Given the description of an element on the screen output the (x, y) to click on. 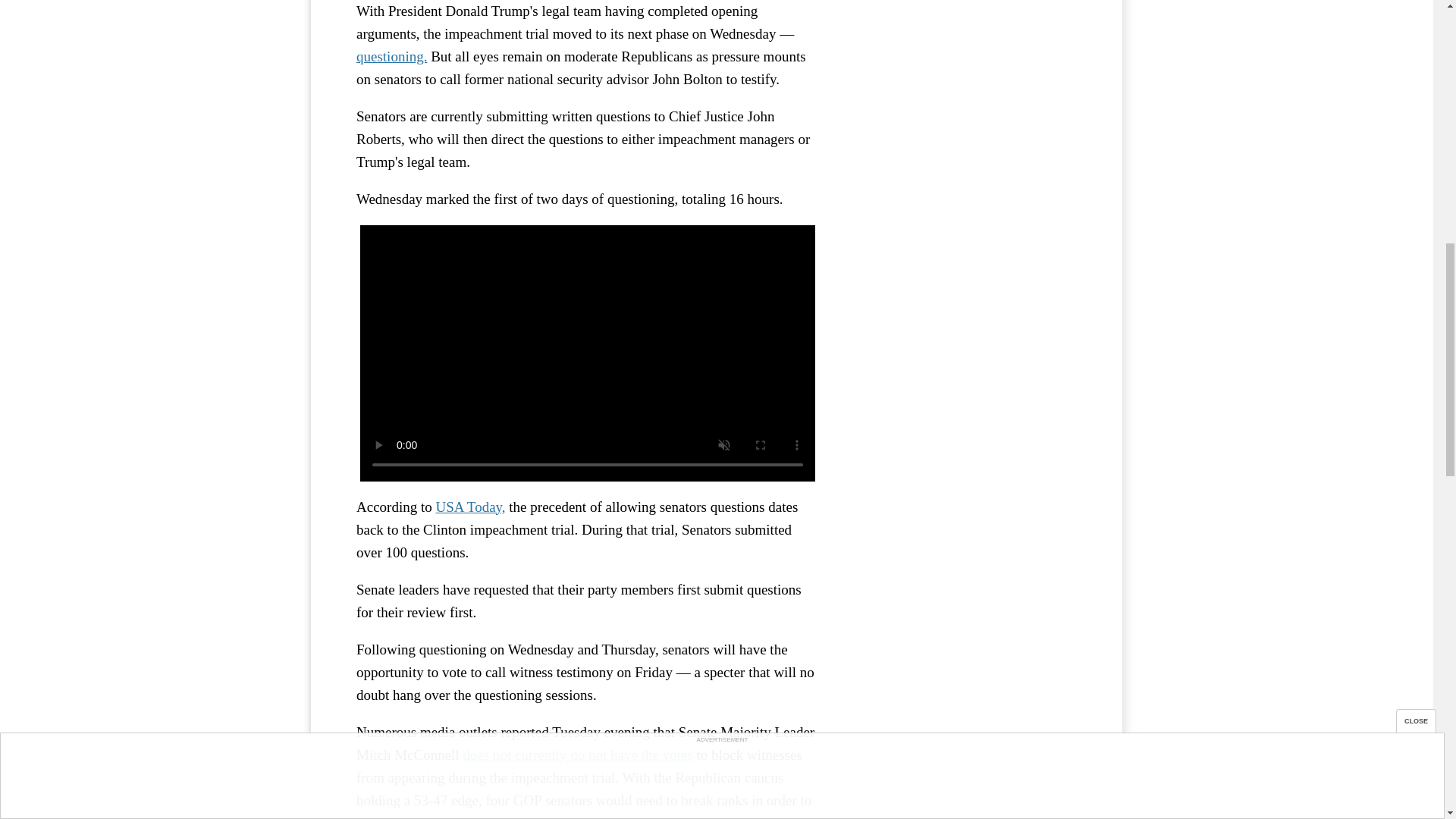
3rd party ad content (962, 72)
